Given the description of an element on the screen output the (x, y) to click on. 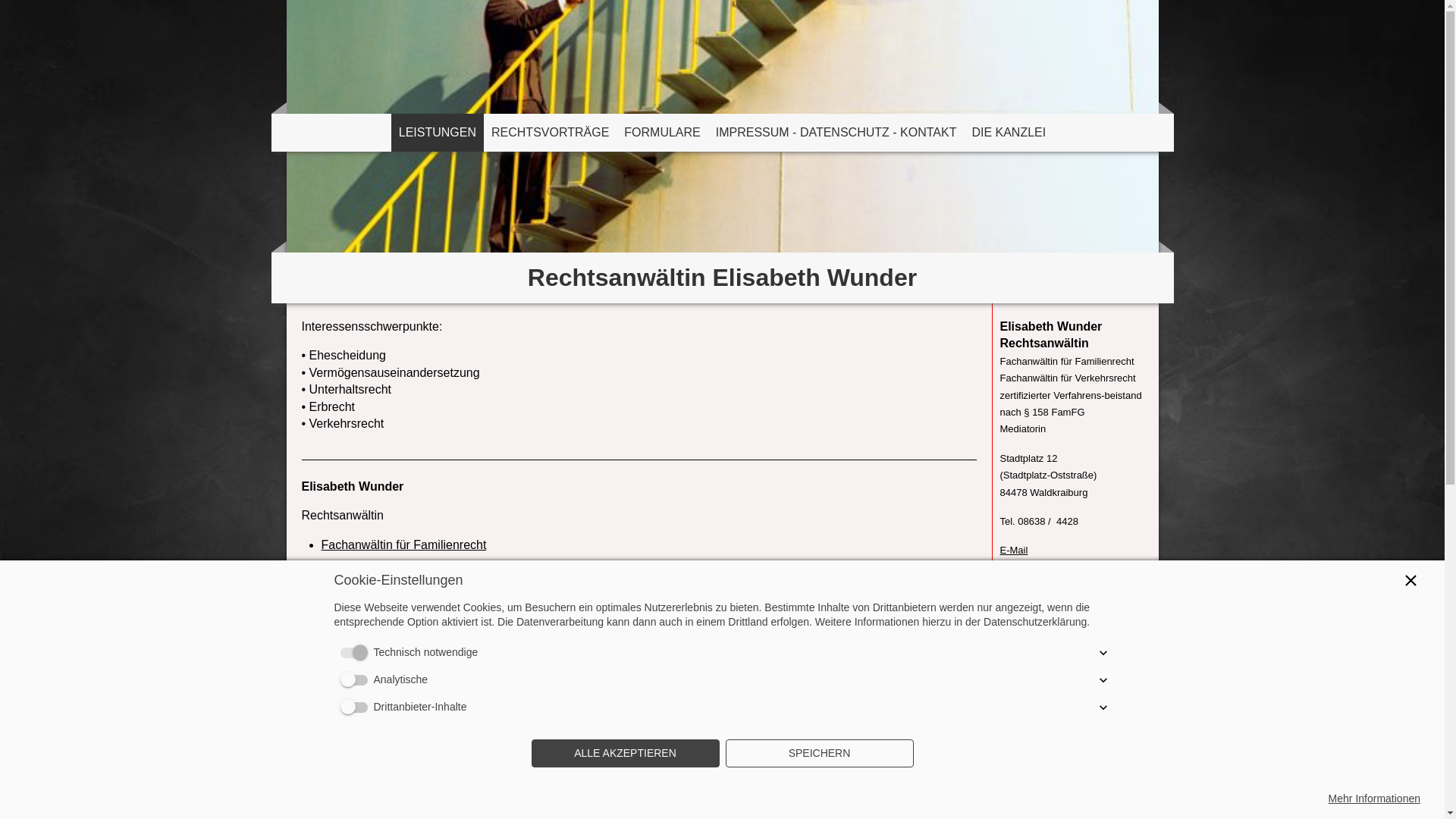
E-Mail Element type: text (1013, 549)
ALLE AKZEPTIEREN Element type: text (624, 753)
DIE KANZLEI Element type: text (1008, 132)
LEISTUNGEN Element type: text (437, 132)
Mehr Informationen Element type: text (1374, 798)
SPEICHERN Element type: text (818, 753)
IMPRESSUM - DATENSCHUTZ - KONTAKT Element type: text (836, 132)
FORMULARE Element type: text (661, 132)
